Given the description of an element on the screen output the (x, y) to click on. 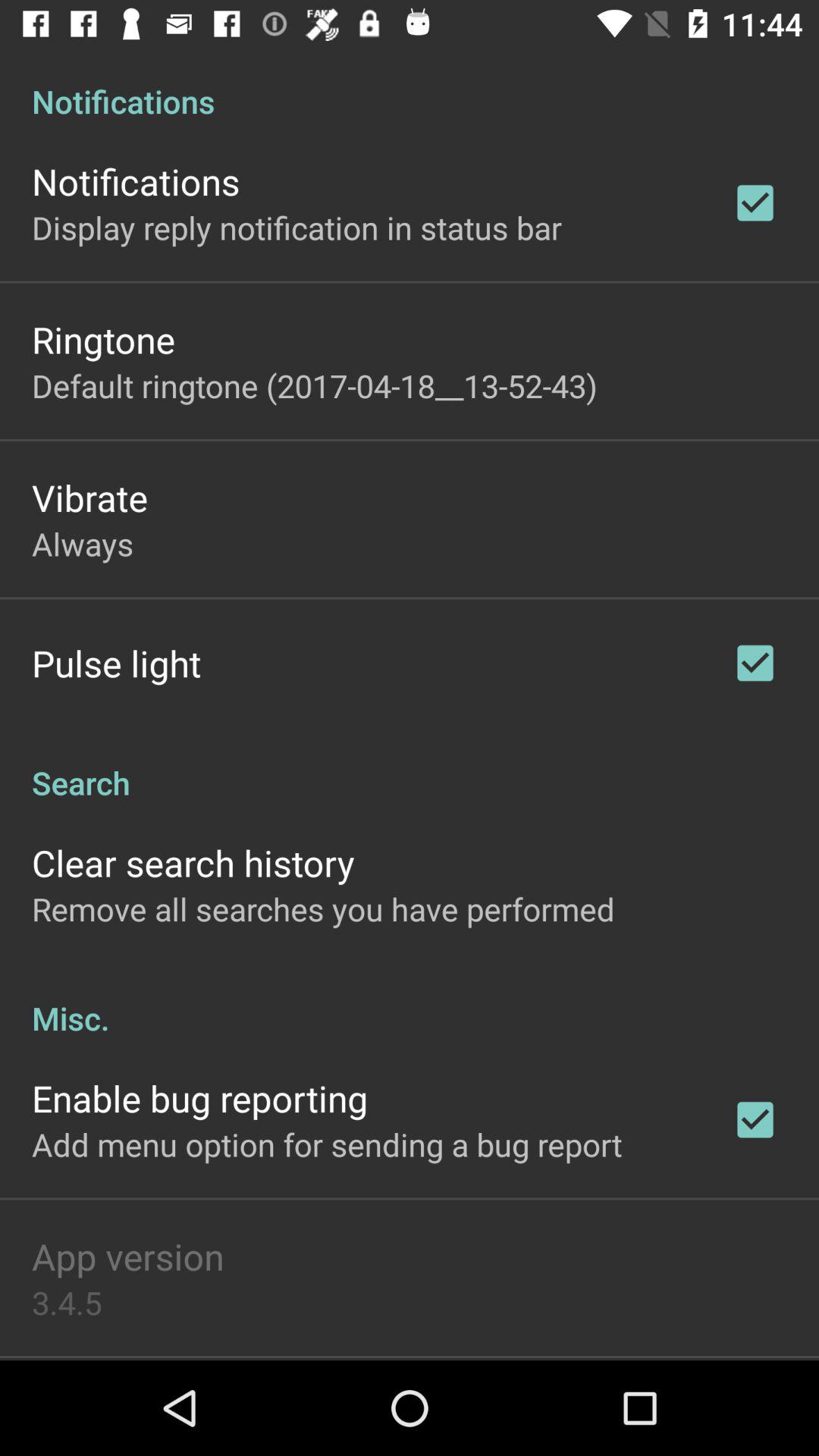
tap the item above the always item (89, 497)
